Given the description of an element on the screen output the (x, y) to click on. 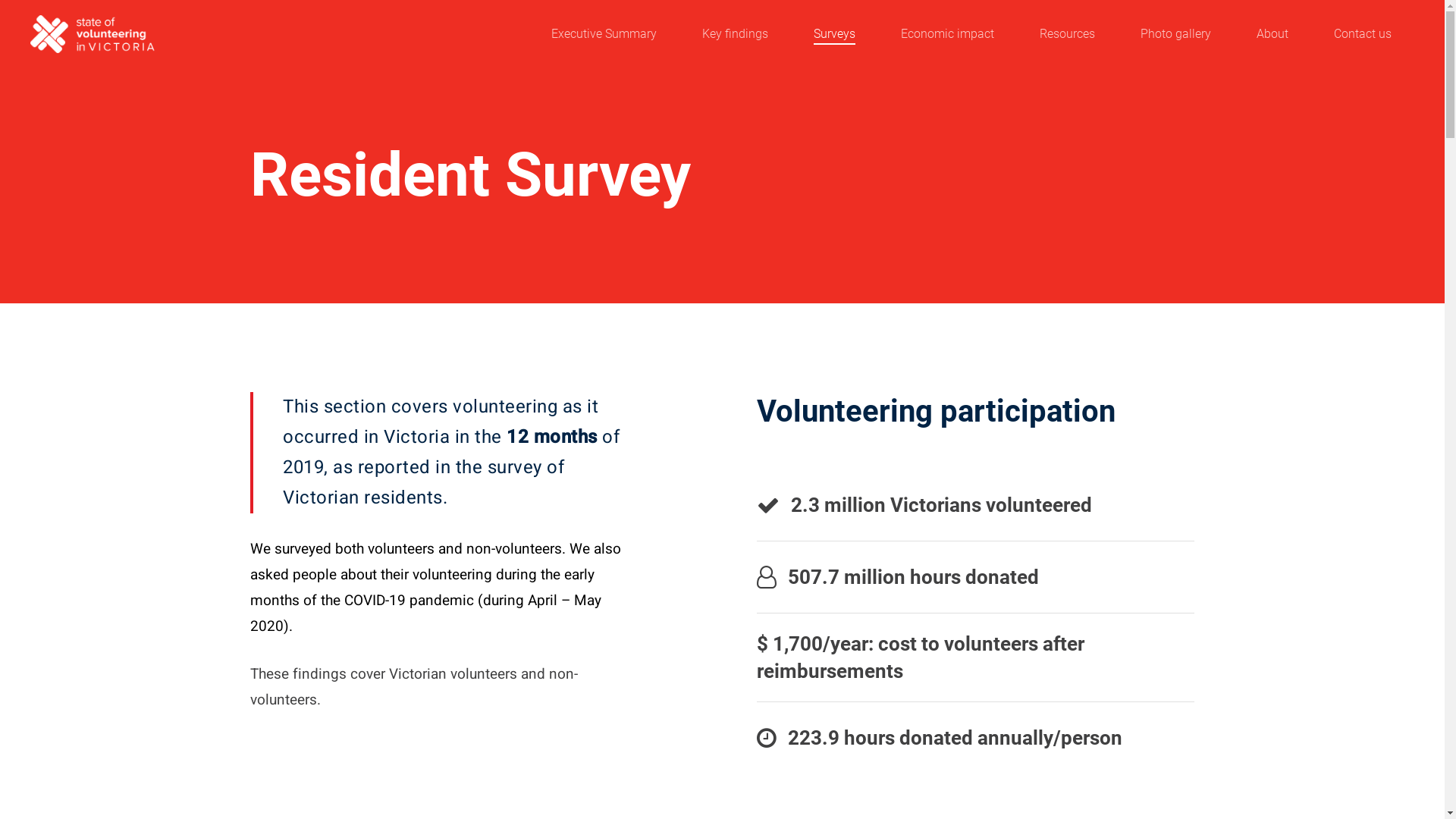
About Element type: text (1272, 33)
Contact us Element type: text (1362, 33)
Surveys Element type: text (834, 33)
Key findings Element type: text (735, 33)
Photo gallery Element type: text (1175, 33)
Resources Element type: text (1067, 33)
Executive Summary Element type: text (603, 33)
Economic impact Element type: text (947, 33)
